Given the description of an element on the screen output the (x, y) to click on. 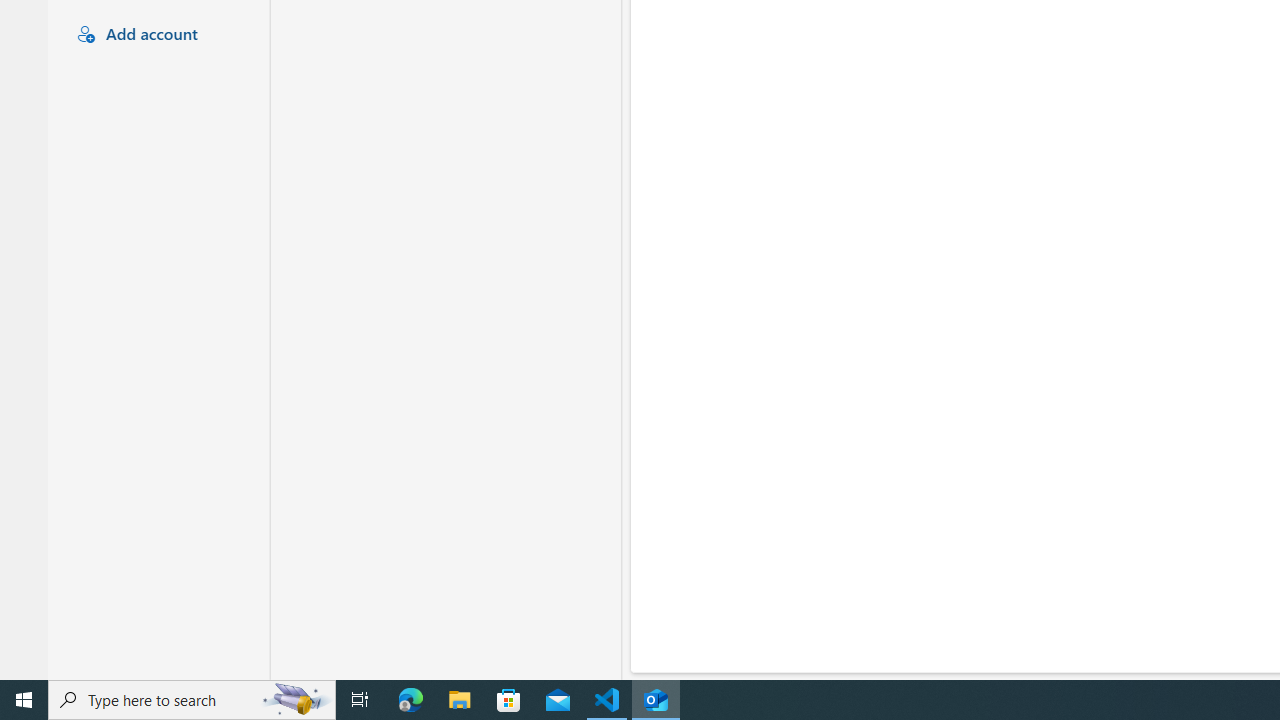
Add account (156, 35)
Outlook (new) - 1 running window (656, 699)
